Given the description of an element on the screen output the (x, y) to click on. 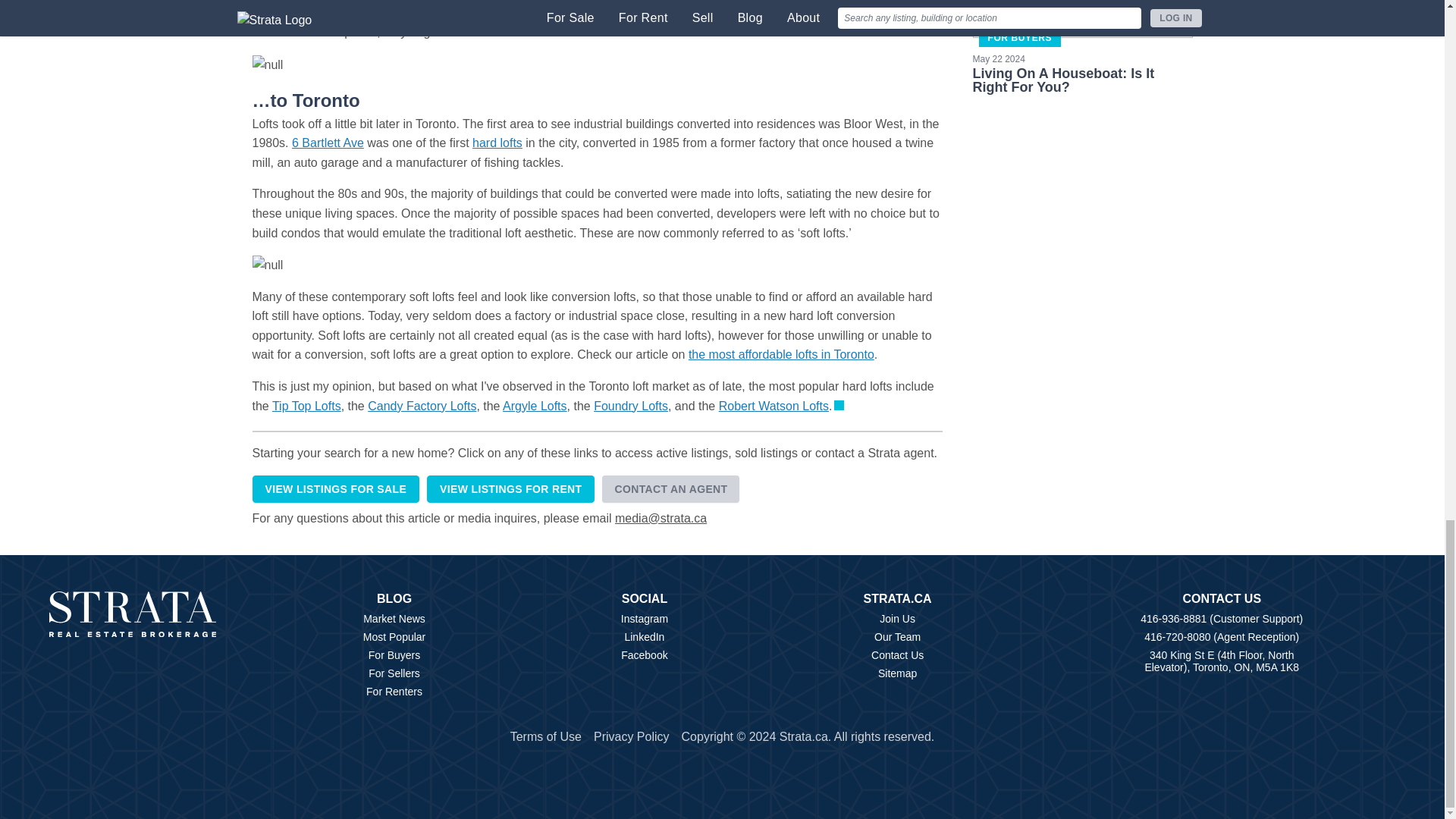
6 Bartlett Ave (328, 142)
VIEW LISTINGS FOR RENT (510, 488)
VIEW LISTINGS FOR SALE (335, 488)
hard lofts (496, 142)
the most affordable lofts in Toronto (781, 354)
Argyle Lofts (534, 405)
Robert Watson Lofts (773, 405)
CONTACT AN AGENT (670, 488)
Foundry Lofts (631, 405)
Tip Top Lofts (306, 405)
Candy Factory Lofts (422, 405)
